Given the description of an element on the screen output the (x, y) to click on. 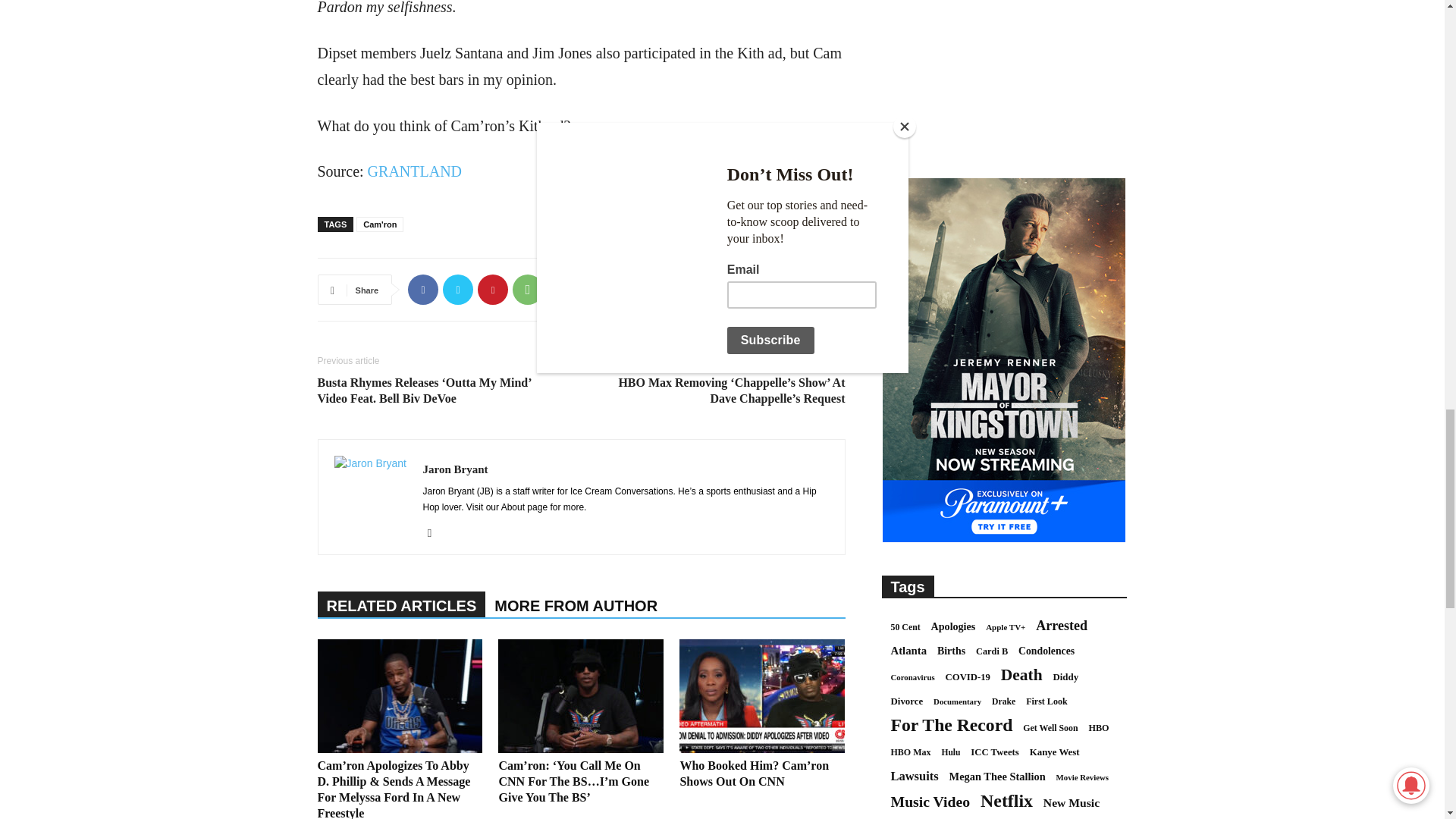
Pinterest (492, 289)
Facebook (422, 289)
Twitter (457, 289)
